Given the description of an element on the screen output the (x, y) to click on. 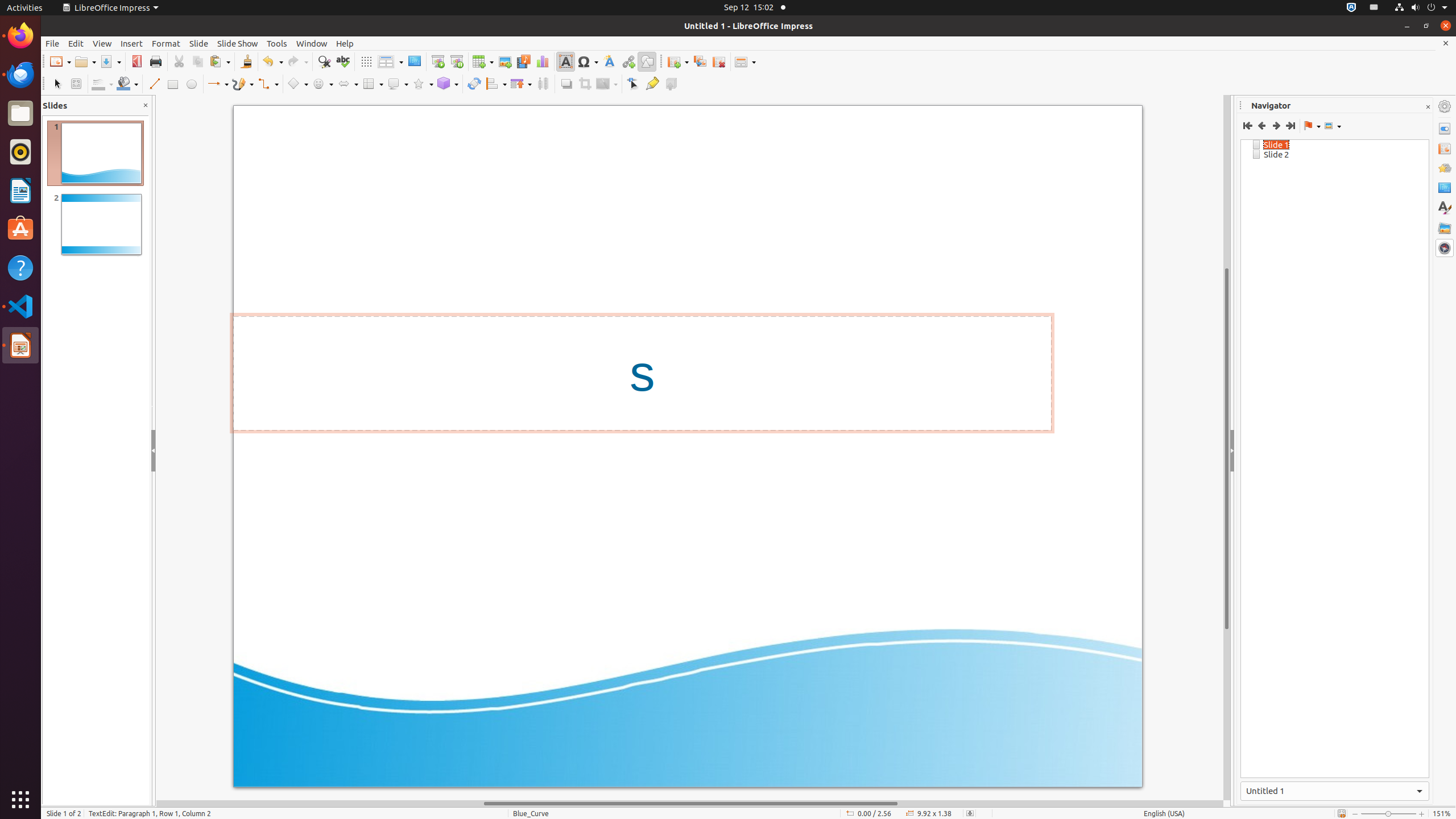
Crop Element type: push-button (584, 83)
Connectors Element type: push-button (267, 83)
File Element type: menu (51, 43)
Symbol Shapes Element type: push-button (321, 83)
Find & Replace Element type: toggle-button (323, 61)
